Given the description of an element on the screen output the (x, y) to click on. 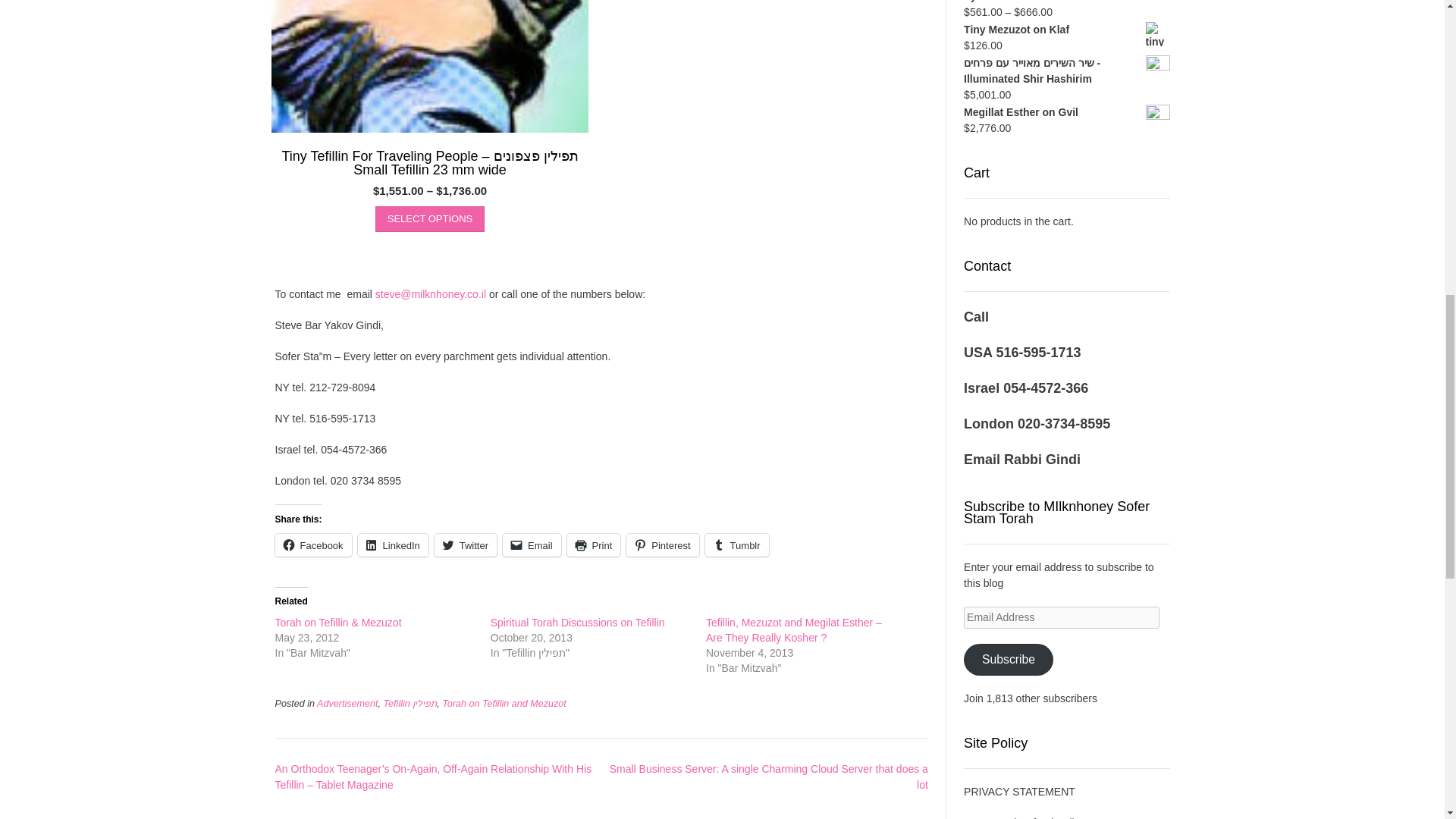
Click to share on Tumblr (736, 544)
Click to share on LinkedIn (393, 544)
Pinterest (662, 544)
Click to print (594, 544)
SELECT OPTIONS (429, 218)
Print (594, 544)
LinkedIn (393, 544)
Facebook (312, 544)
return and refund policy (1023, 817)
Click to share on Facebook (312, 544)
